Given the description of an element on the screen output the (x, y) to click on. 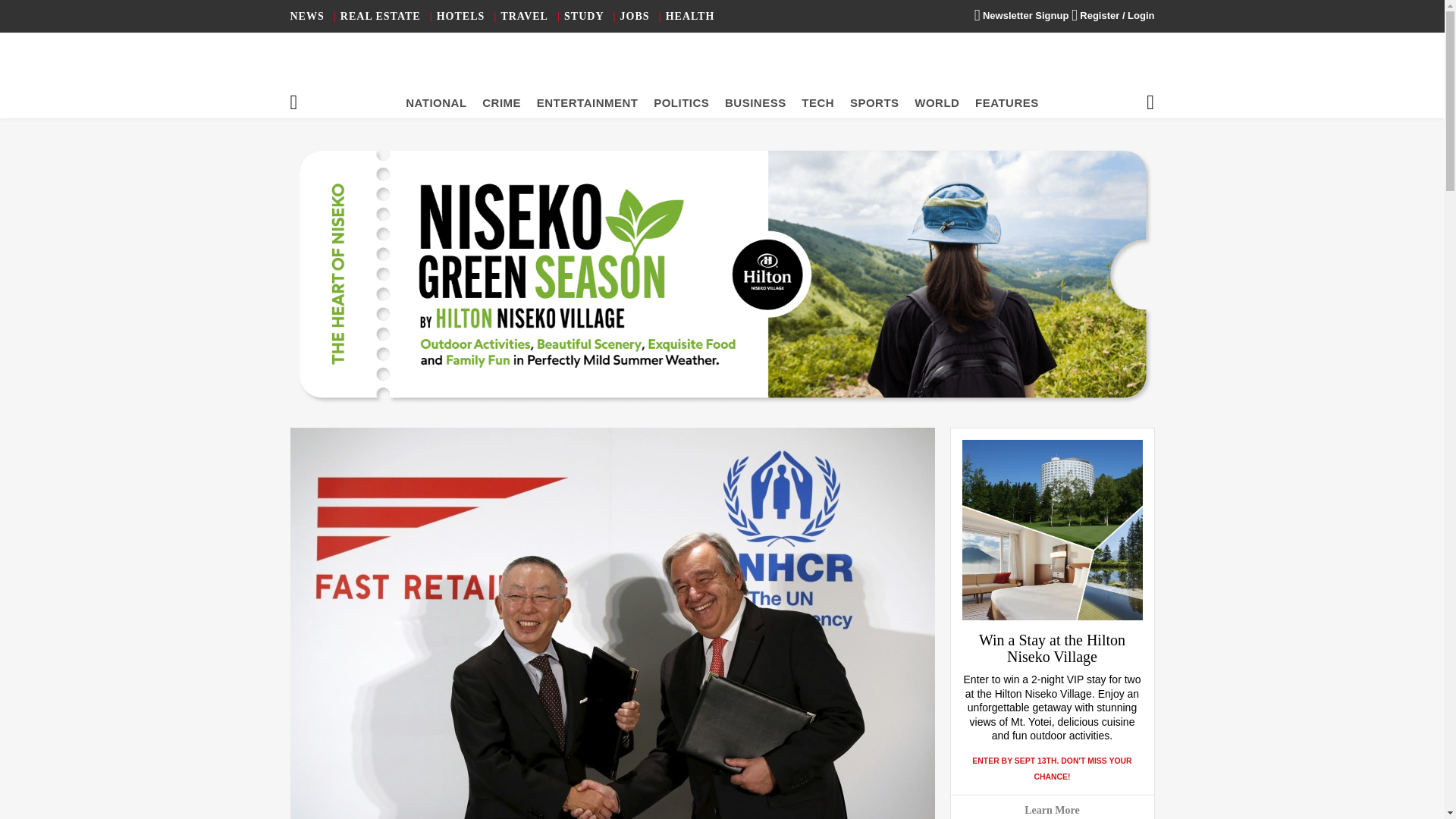
NEWS (306, 16)
BUSINESS (755, 102)
FEATURES (1007, 102)
Newsletter Signup (1021, 15)
NATIONAL (435, 102)
TRAVEL (524, 16)
REAL ESTATE (380, 16)
WORLD (936, 102)
HEALTH (689, 16)
HOTELS (460, 16)
